Given the description of an element on the screen output the (x, y) to click on. 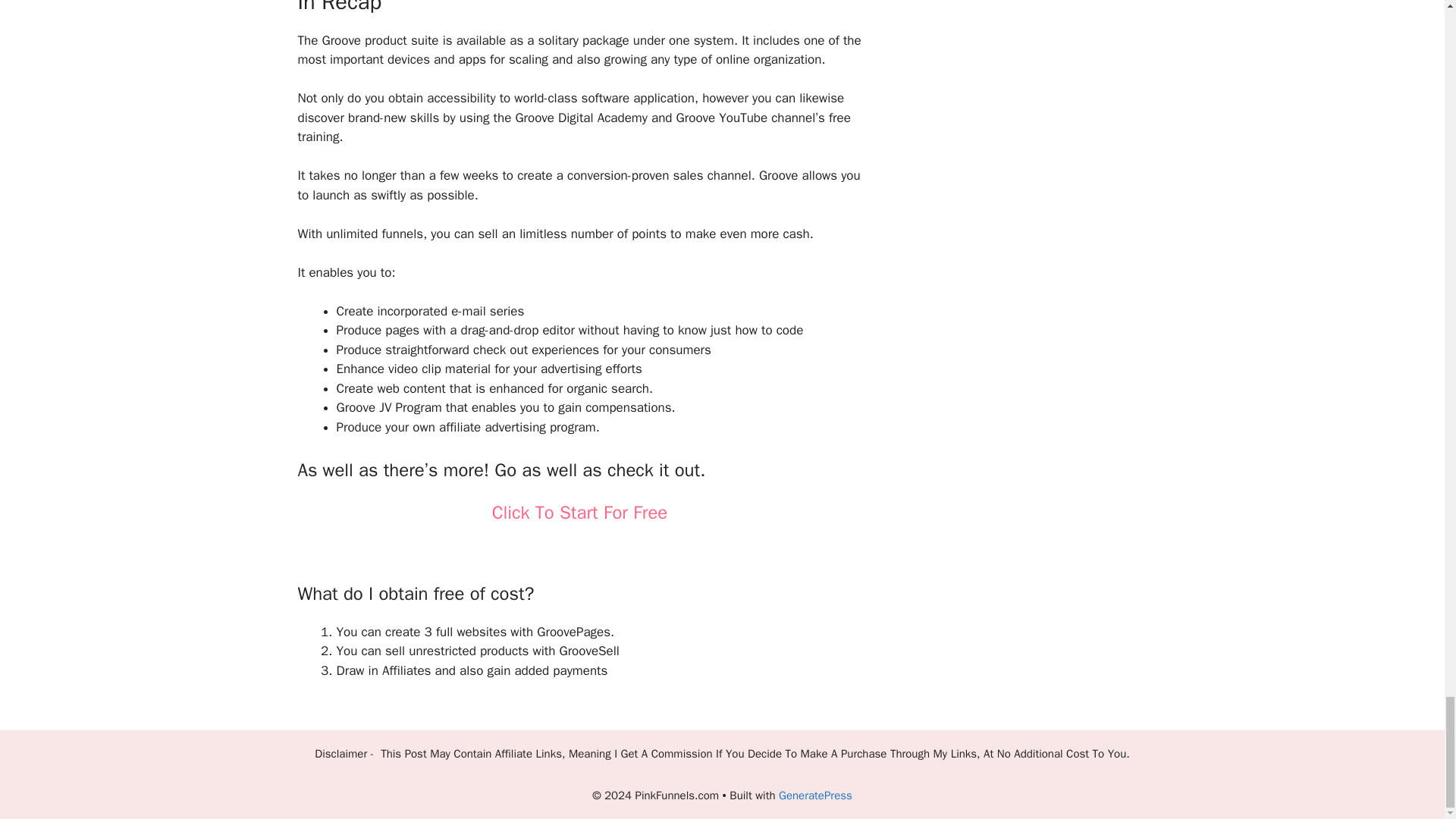
GeneratePress (814, 795)
Click To Start For Free (580, 512)
